Given the description of an element on the screen output the (x, y) to click on. 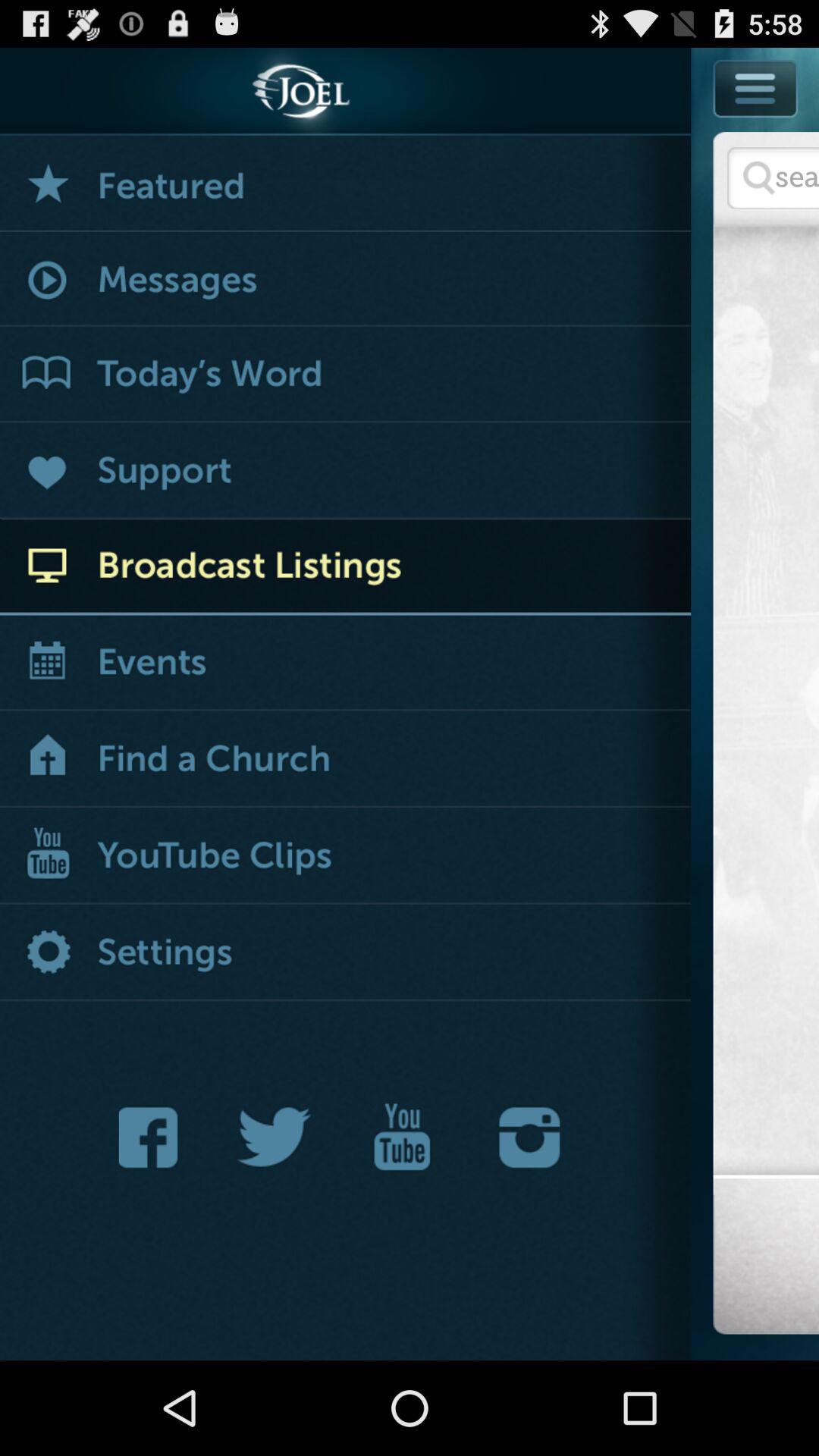
list of events (345, 663)
